Given the description of an element on the screen output the (x, y) to click on. 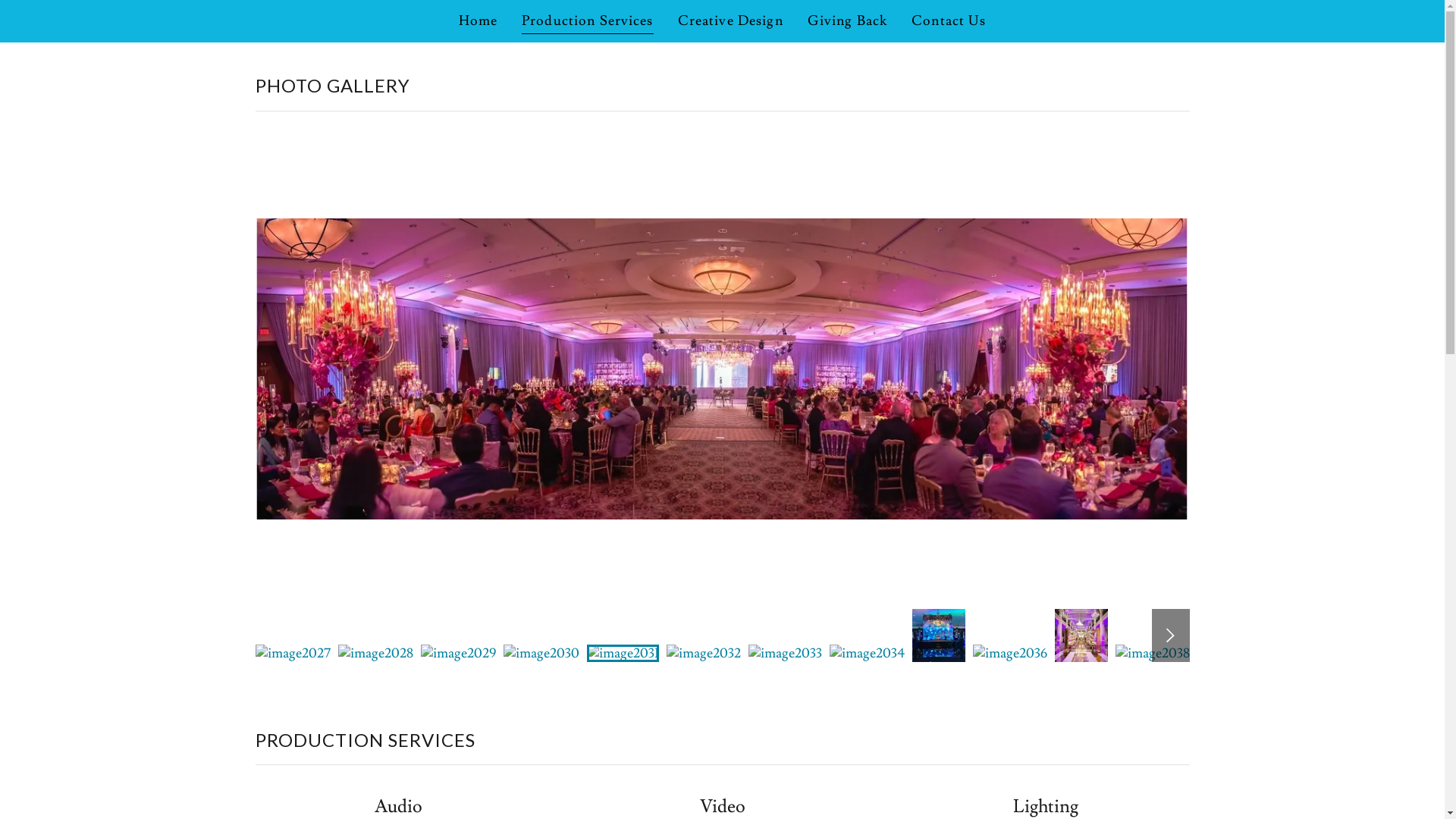
Creative Design Element type: text (730, 20)
Giving Back Element type: text (847, 20)
Home Element type: text (478, 20)
Production Services Element type: text (587, 23)
Contact Us Element type: text (948, 20)
